Given the description of an element on the screen output the (x, y) to click on. 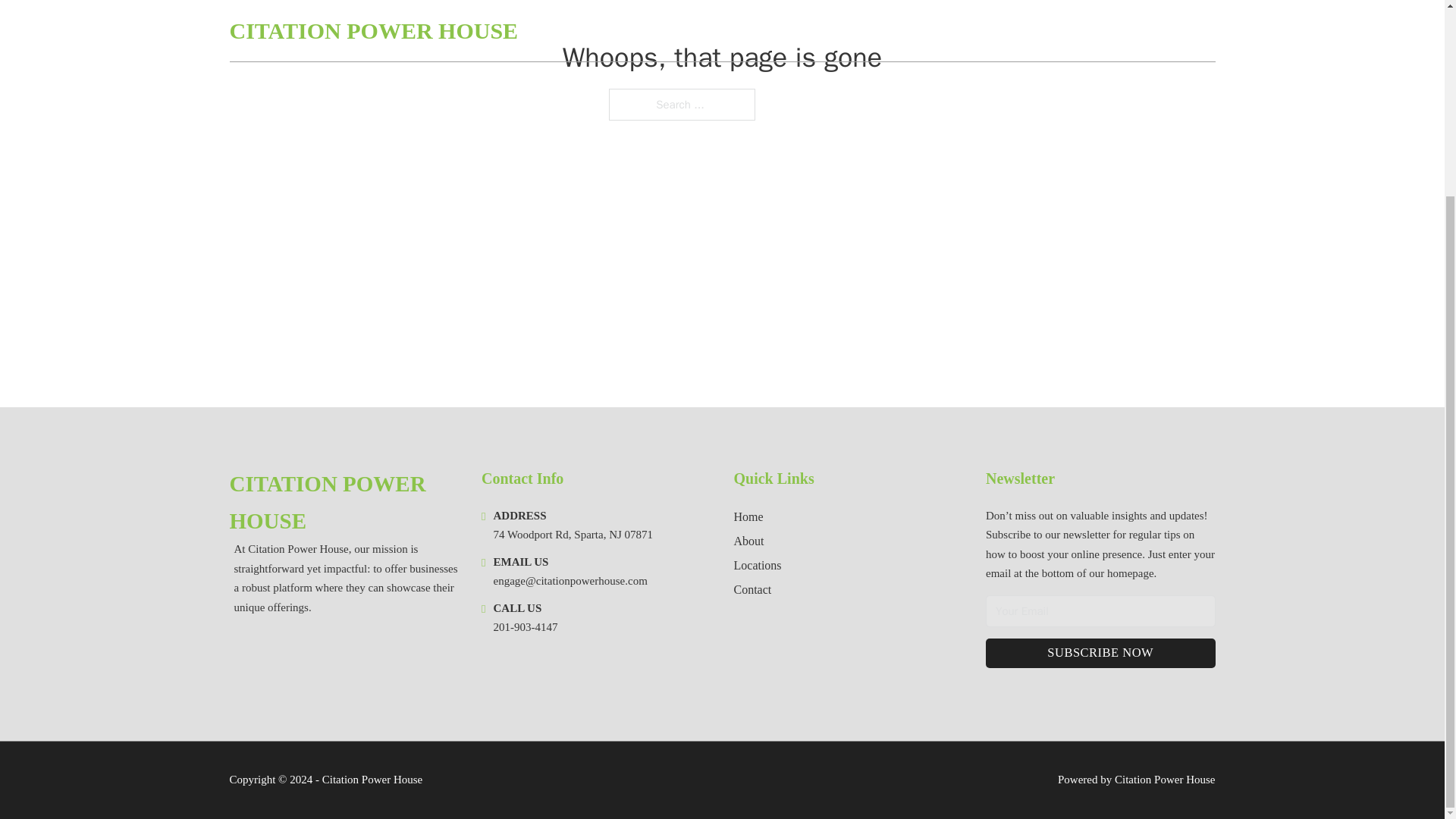
201-903-4147 (525, 626)
About (748, 540)
Locations (757, 565)
Home (747, 516)
CITATION POWER HOUSE (343, 503)
SUBSCRIBE NOW (1100, 653)
Contact (752, 589)
